Given the description of an element on the screen output the (x, y) to click on. 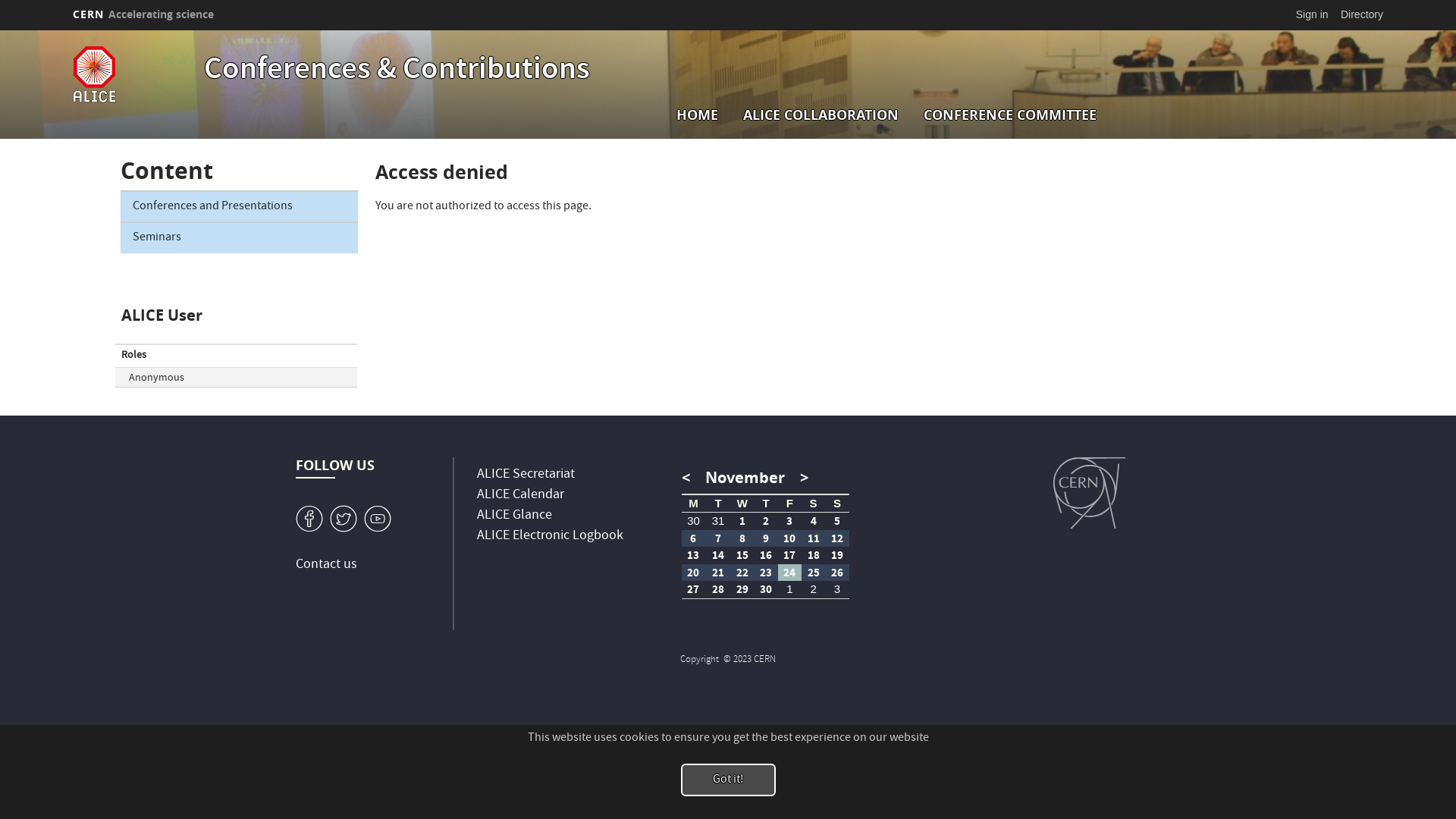
<   Element type: text (689, 477)
7 Element type: text (718, 538)
HOME Element type: text (697, 115)
Directory Element type: text (1361, 14)
1 Element type: text (742, 521)
26 Element type: text (836, 572)
6 Element type: text (693, 538)
9 Element type: text (765, 538)
16 Element type: text (765, 555)
15 Element type: text (742, 555)
21 Element type: text (718, 572)
4 Element type: text (813, 521)
Conferences & Contributions Element type: text (396, 71)
1 Element type: text (789, 589)
14 Element type: text (718, 555)
v Element type: text (309, 519)
12 Element type: text (836, 538)
2 Element type: text (765, 521)
Home Element type: hover (134, 74)
  November   Element type: text (744, 477)
Contact us Element type: text (326, 565)
Seminars Element type: text (238, 237)
ALICE COLLABORATION Element type: text (820, 115)
ALICE Electronic Logbook Element type: text (549, 536)
31 Element type: text (718, 521)
CONFERENCE COMMITTEE Element type: text (1009, 115)
30 Element type: text (693, 521)
Copyright Element type: text (700, 659)
28 Element type: text (718, 589)
23 Element type: text (765, 572)
24 Element type: text (789, 572)
18 Element type: text (813, 555)
30 Element type: text (765, 589)
29 Element type: text (742, 589)
Sign in Element type: text (1311, 14)
11 Element type: text (813, 538)
25 Element type: text (813, 572)
13 Element type: text (693, 555)
3 Element type: text (836, 589)
22 Element type: text (742, 572)
ALICE Secretariat Element type: text (525, 474)
Conferences and Presentations Element type: text (238, 206)
CERN Accelerating science Element type: text (142, 14)
5 Element type: text (836, 521)
ALICE Calendar Element type: text (520, 495)
19 Element type: text (836, 555)
W Element type: text (343, 519)
1 Element type: text (377, 519)
17 Element type: text (789, 555)
  > Element type: text (800, 477)
20 Element type: text (693, 572)
CERN Element type: hover (1089, 492)
27 Element type: text (693, 589)
10 Element type: text (789, 538)
Got it! Element type: text (727, 779)
Skip to main content Element type: text (0, 30)
8 Element type: text (742, 538)
ALICE Glance Element type: text (514, 515)
2 Element type: text (813, 589)
3 Element type: text (789, 521)
